Given the description of an element on the screen output the (x, y) to click on. 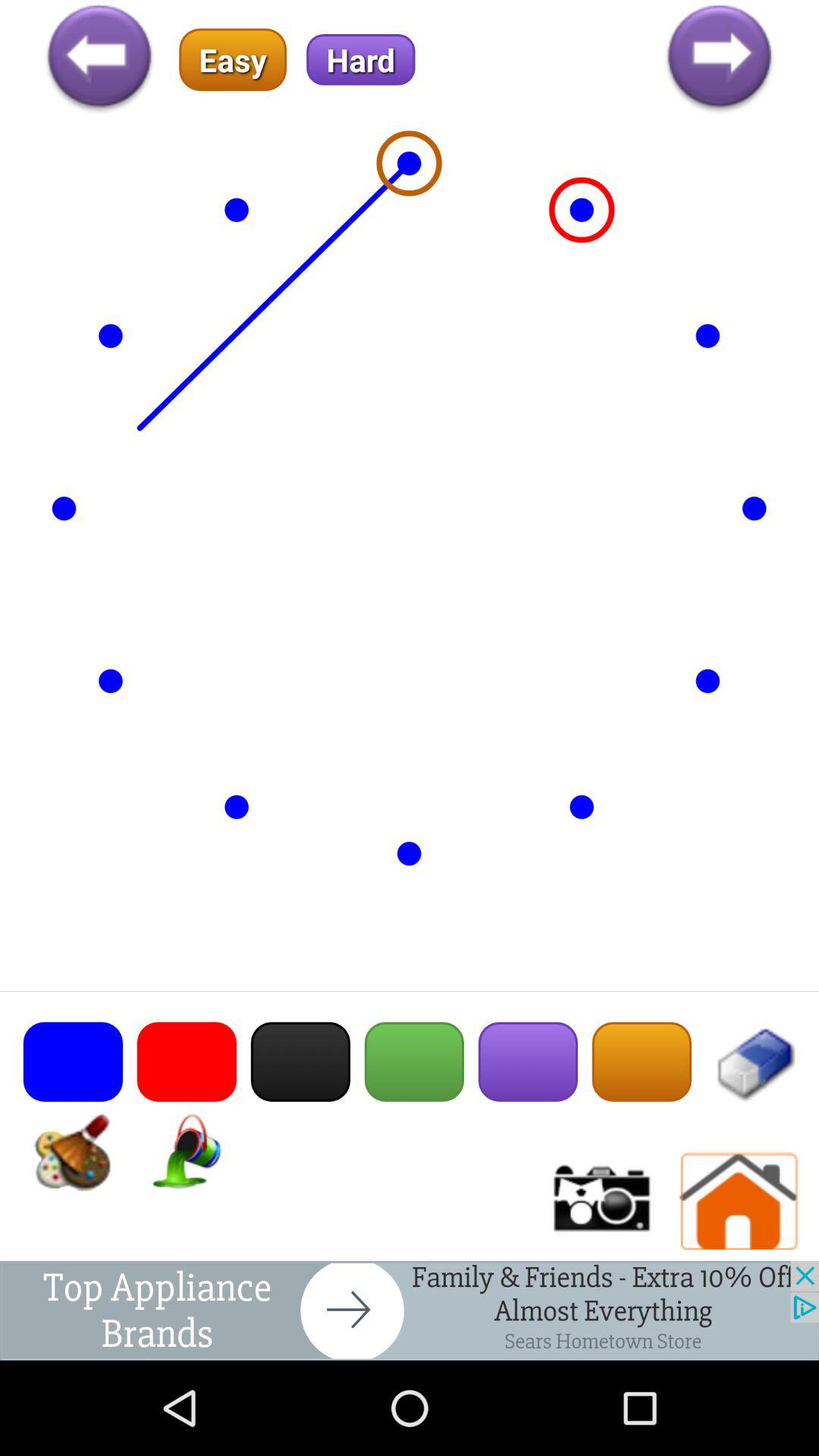
go to advertisement page (409, 1310)
